Given the description of an element on the screen output the (x, y) to click on. 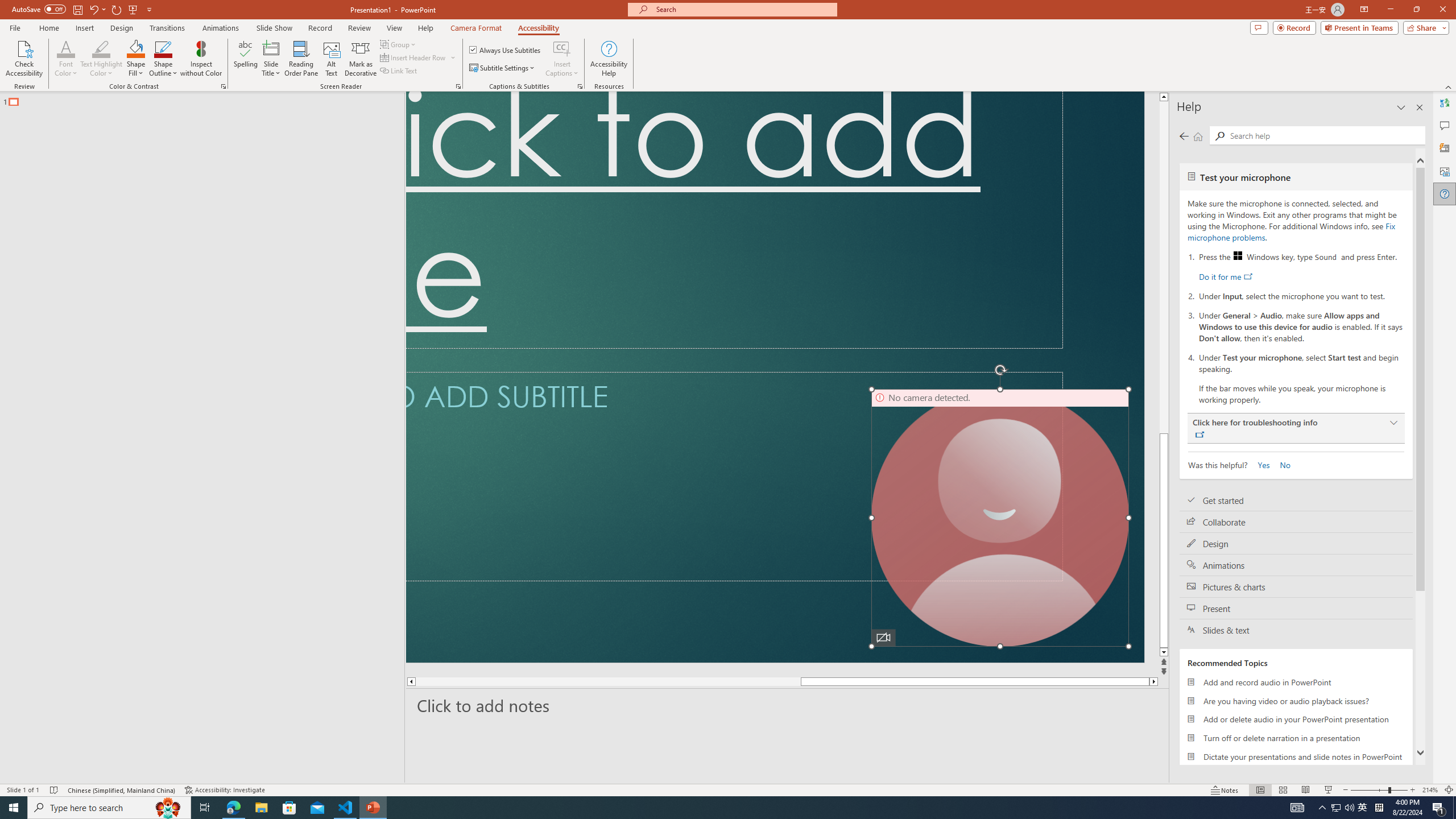
Slides & text (1295, 630)
Add or delete audio in your PowerPoint presentation (1295, 719)
Pictures & charts (1295, 586)
